Given the description of an element on the screen output the (x, y) to click on. 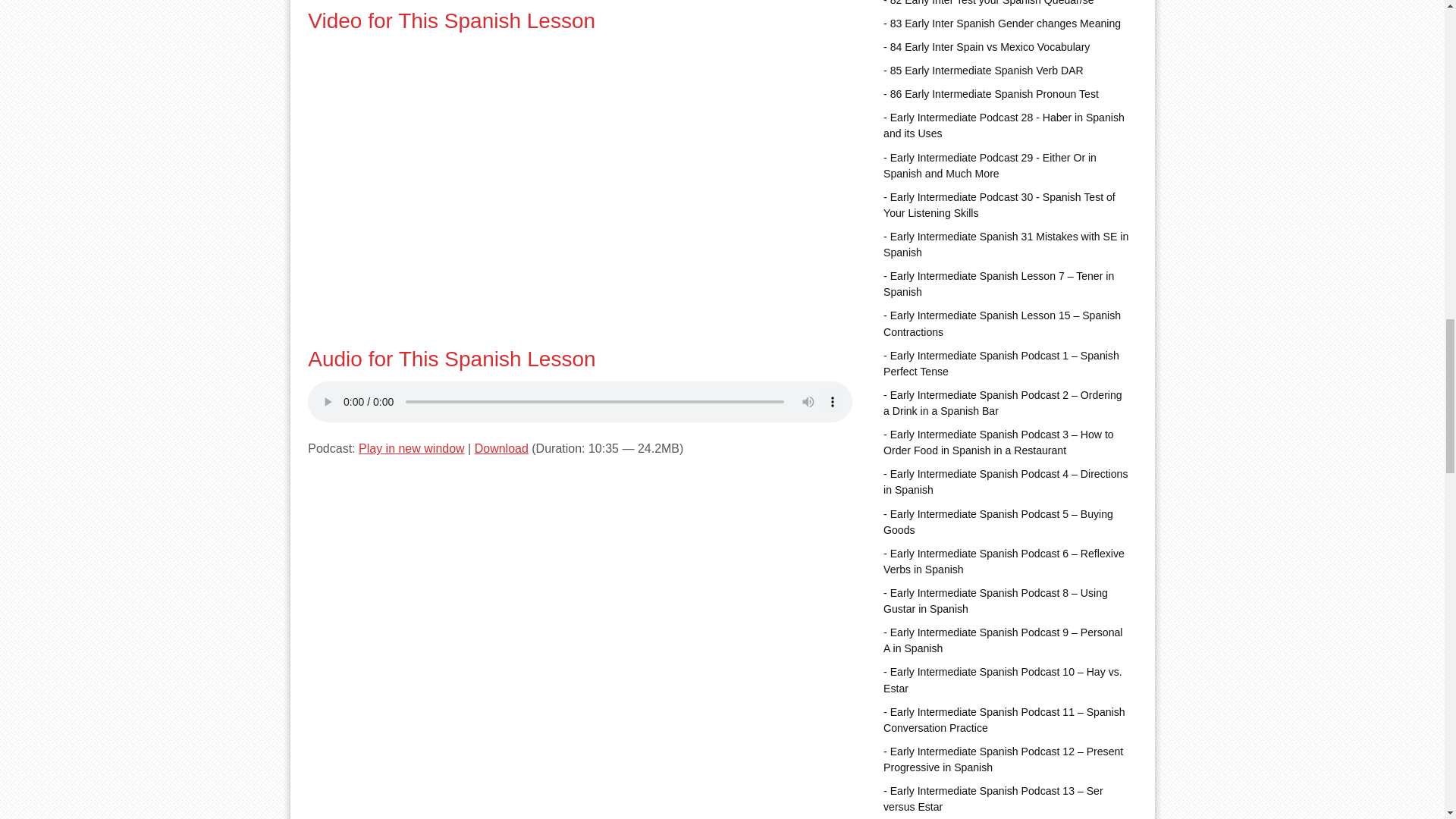
Play in new window (411, 448)
Download (501, 448)
Play in new window (411, 448)
Download (501, 448)
